Given the description of an element on the screen output the (x, y) to click on. 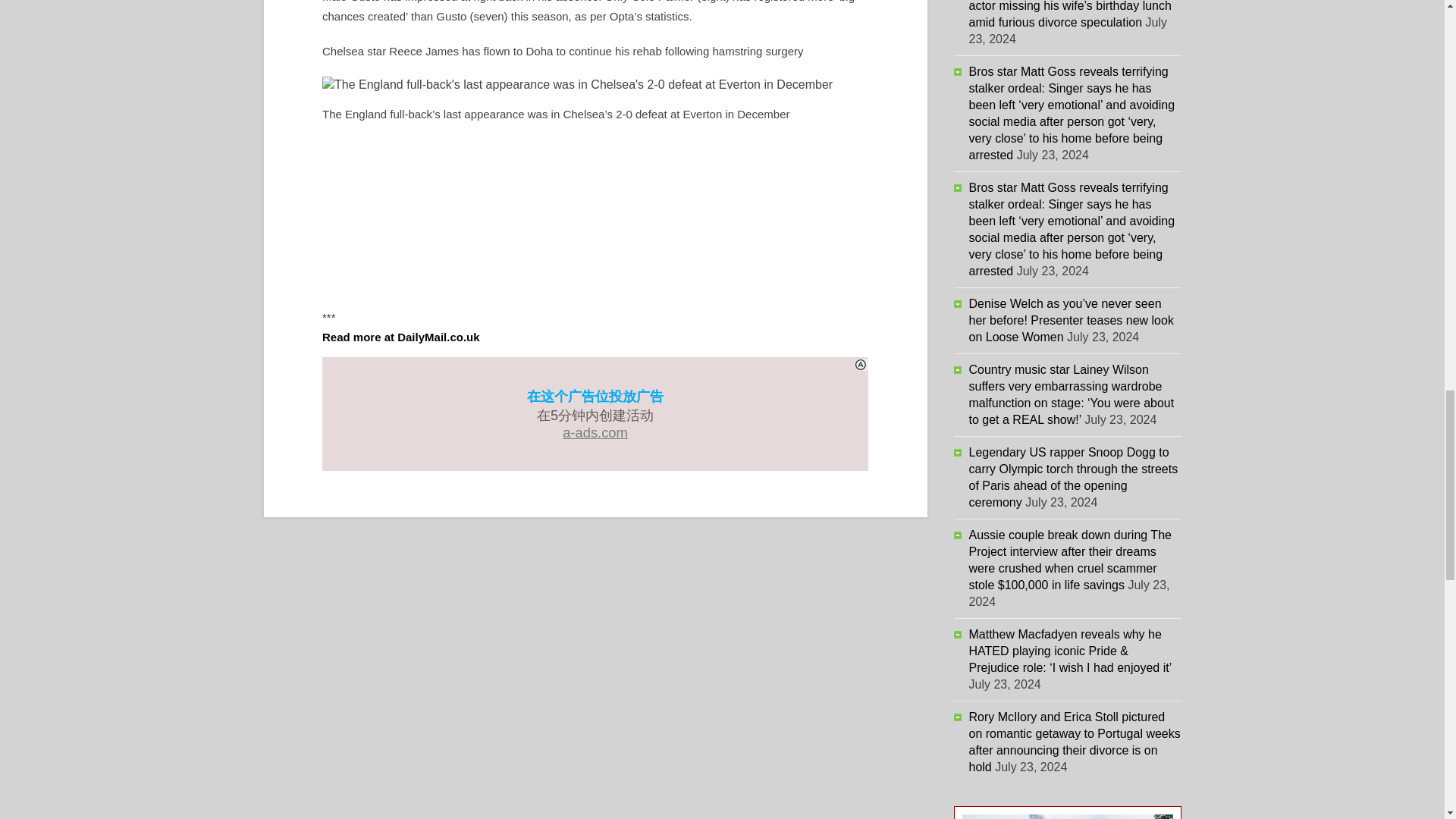
Read more at DailyMail.co.uk (400, 336)
